Given the description of an element on the screen output the (x, y) to click on. 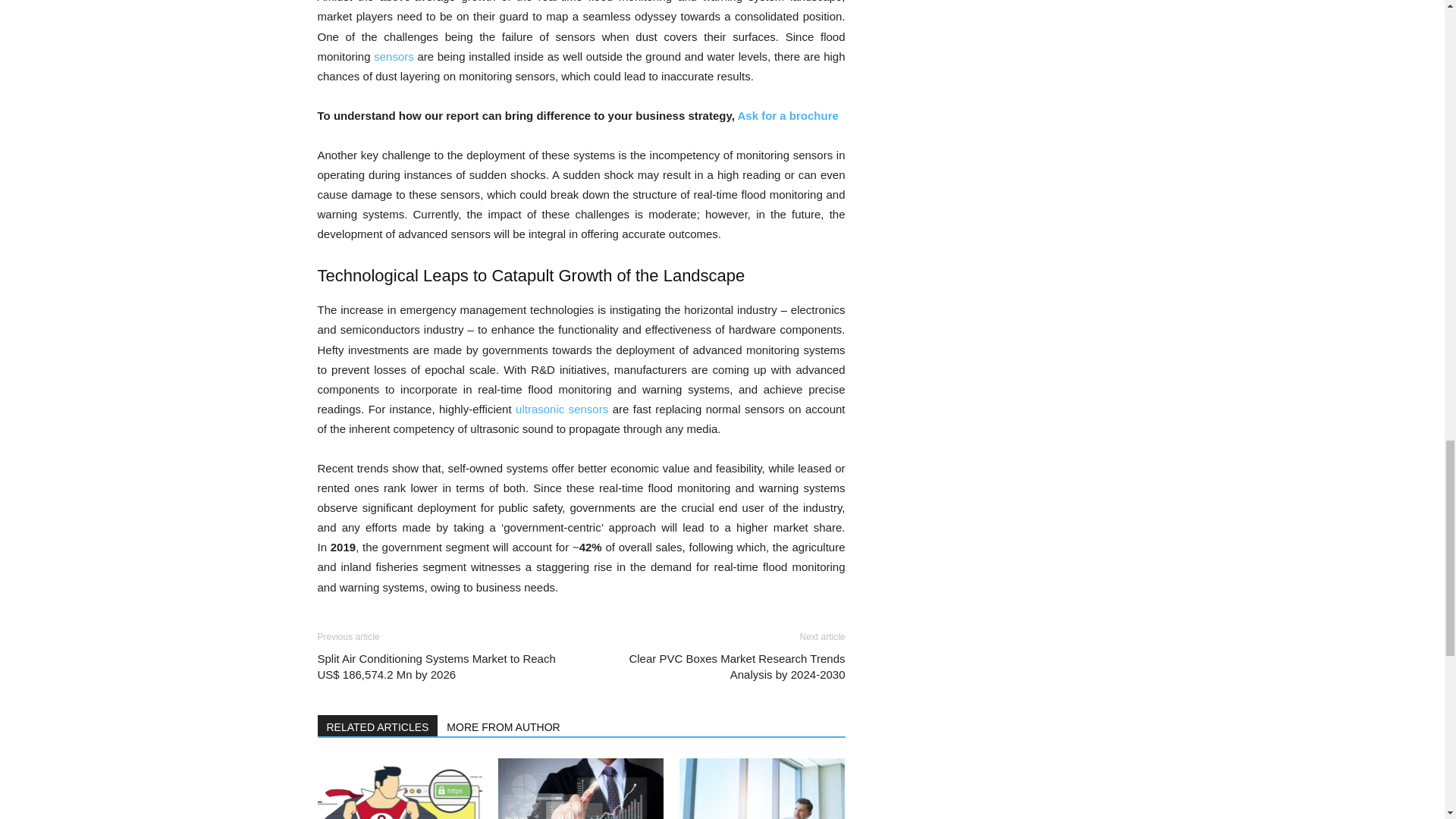
Clear PVC Boxes Market Research Trends Analysis by 2024-2030 (721, 666)
Ask for a brochure (787, 115)
sensors (393, 56)
MORE FROM AUTHOR (503, 725)
ultrasonic sensors (561, 408)
RELATED ARTICLES (377, 725)
